Given the description of an element on the screen output the (x, y) to click on. 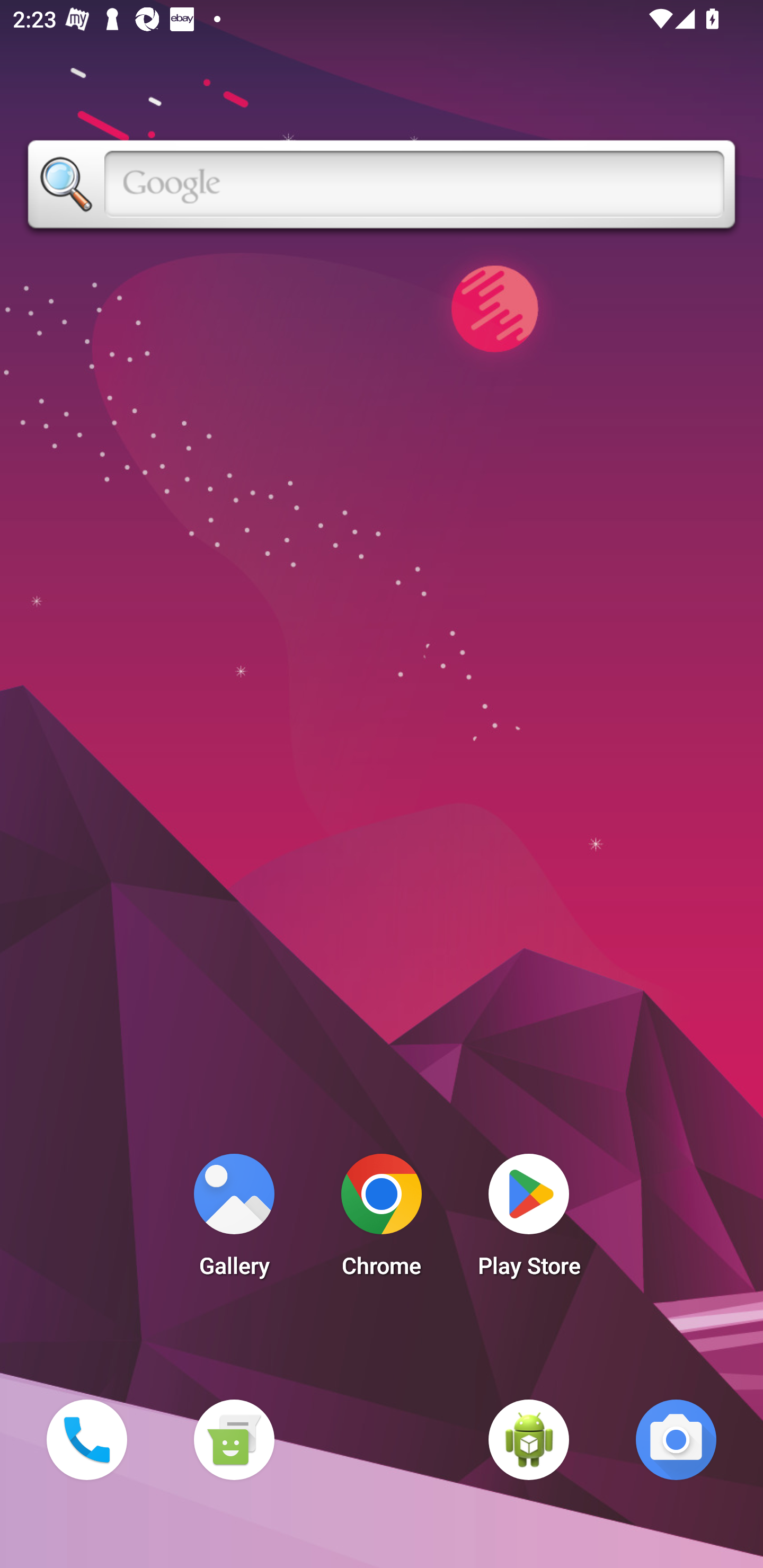
Gallery (233, 1220)
Chrome (381, 1220)
Play Store (528, 1220)
Phone (86, 1439)
Messaging (233, 1439)
WebView Browser Tester (528, 1439)
Camera (676, 1439)
